Given the description of an element on the screen output the (x, y) to click on. 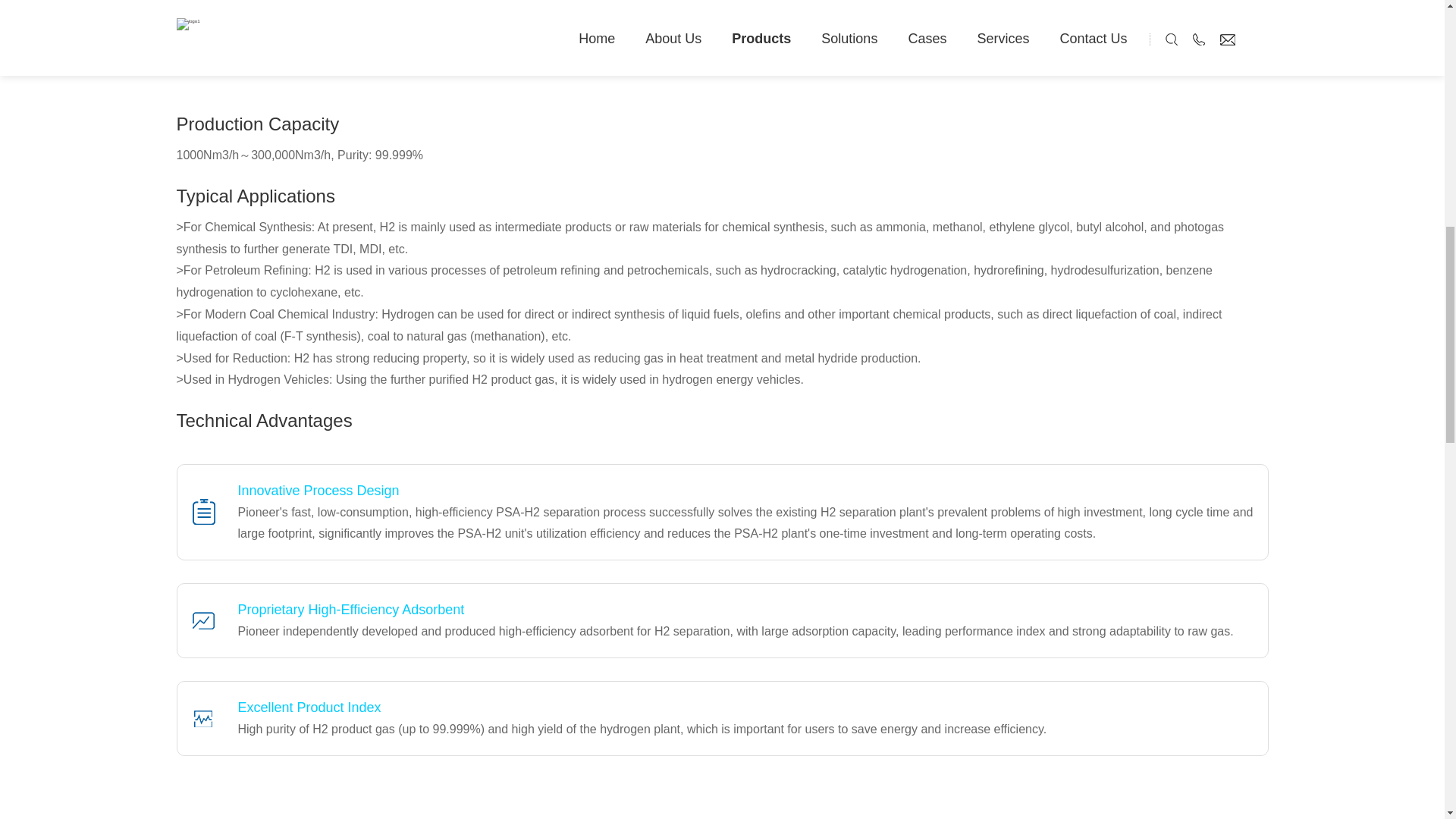
PSA-H2 Plant (429, 37)
